Given the description of an element on the screen output the (x, y) to click on. 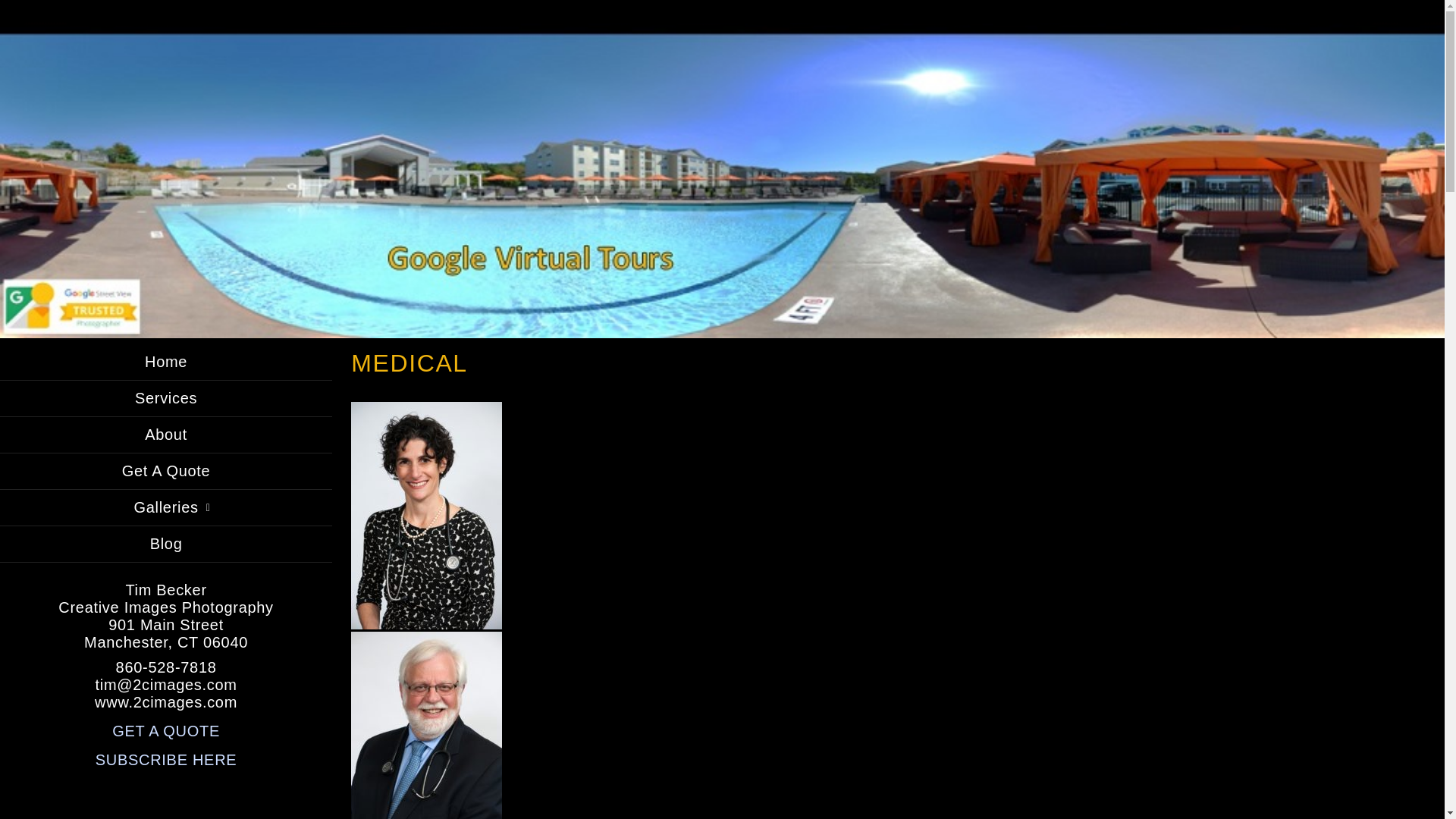
GET A QUOTE Element type: text (165, 730)
SUBSCRIBE HERE Element type: text (166, 759)
Galleries Element type: text (166, 507)
About Element type: text (166, 435)
Blog Element type: text (166, 544)
Get A Quote Element type: text (166, 471)
Services Element type: text (166, 398)
Home Element type: text (166, 362)
